Given the description of an element on the screen output the (x, y) to click on. 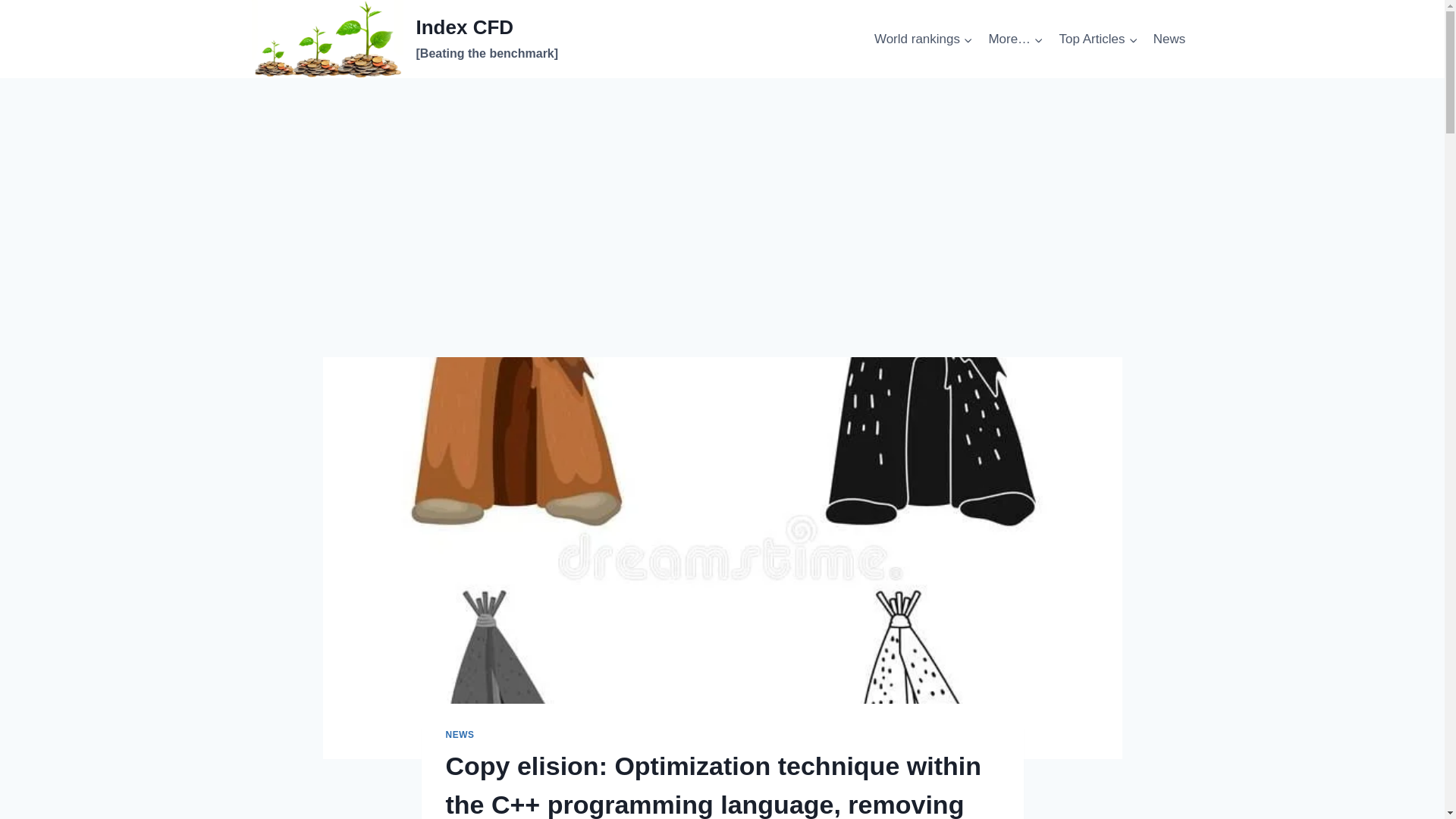
News (1169, 39)
NEWS (459, 734)
World rankings (922, 39)
Advertisement (722, 244)
Top Articles (1097, 39)
